Given the description of an element on the screen output the (x, y) to click on. 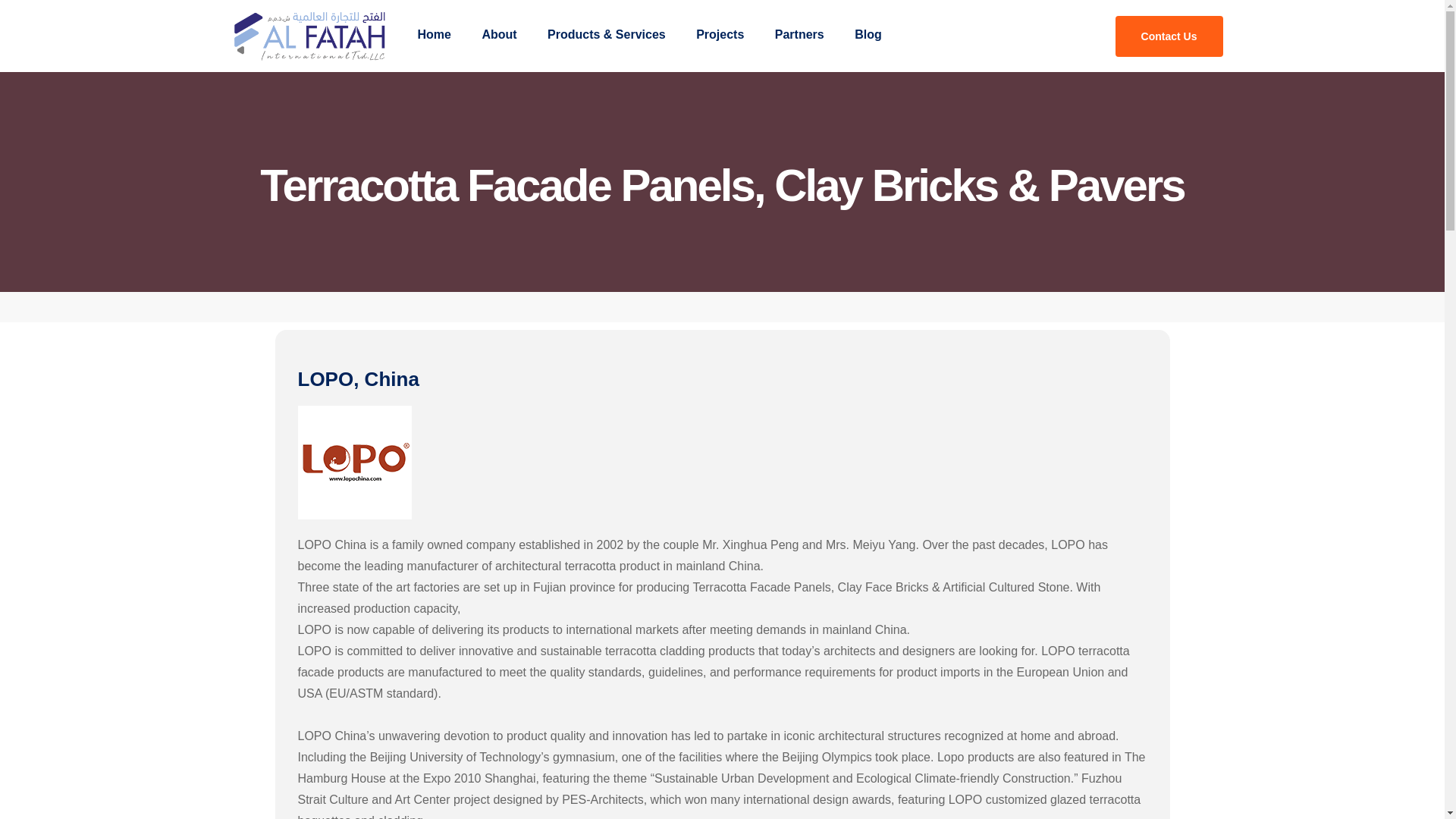
About (498, 34)
Projects (719, 34)
About (498, 34)
Projects (719, 34)
Contact Us (1169, 35)
Partners (799, 34)
Partners (799, 34)
